Given the description of an element on the screen output the (x, y) to click on. 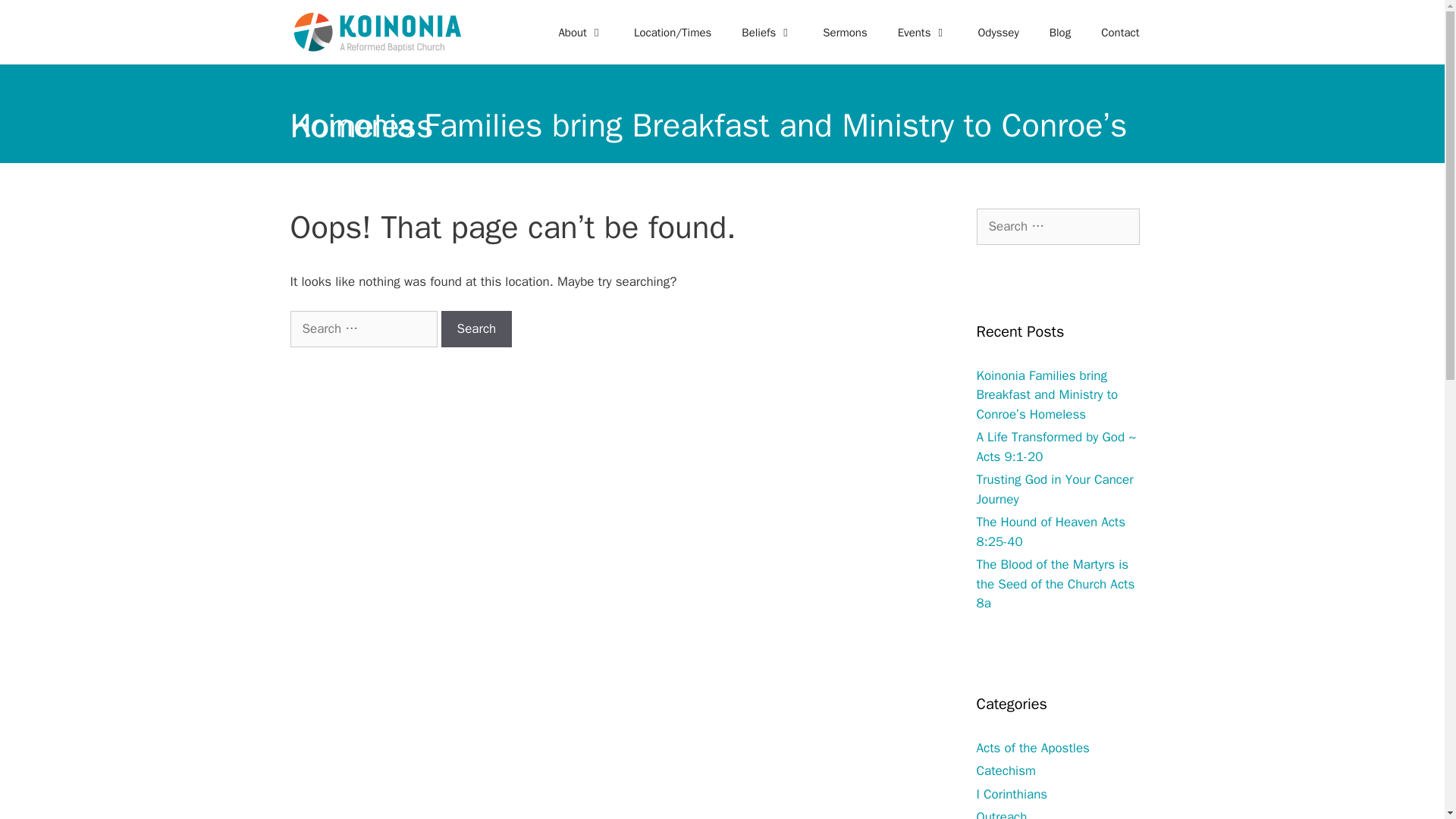
Blog (1059, 31)
The Blood of the Martyrs is the Seed of the Church Acts 8a (1055, 583)
Odyssey (997, 31)
The Hound of Heaven Acts 8:25-40 (1050, 531)
About (580, 31)
Koinonia Church (376, 32)
Catechism (1005, 770)
Search (476, 329)
Search for: (1058, 226)
Beliefs (767, 31)
